Given the description of an element on the screen output the (x, y) to click on. 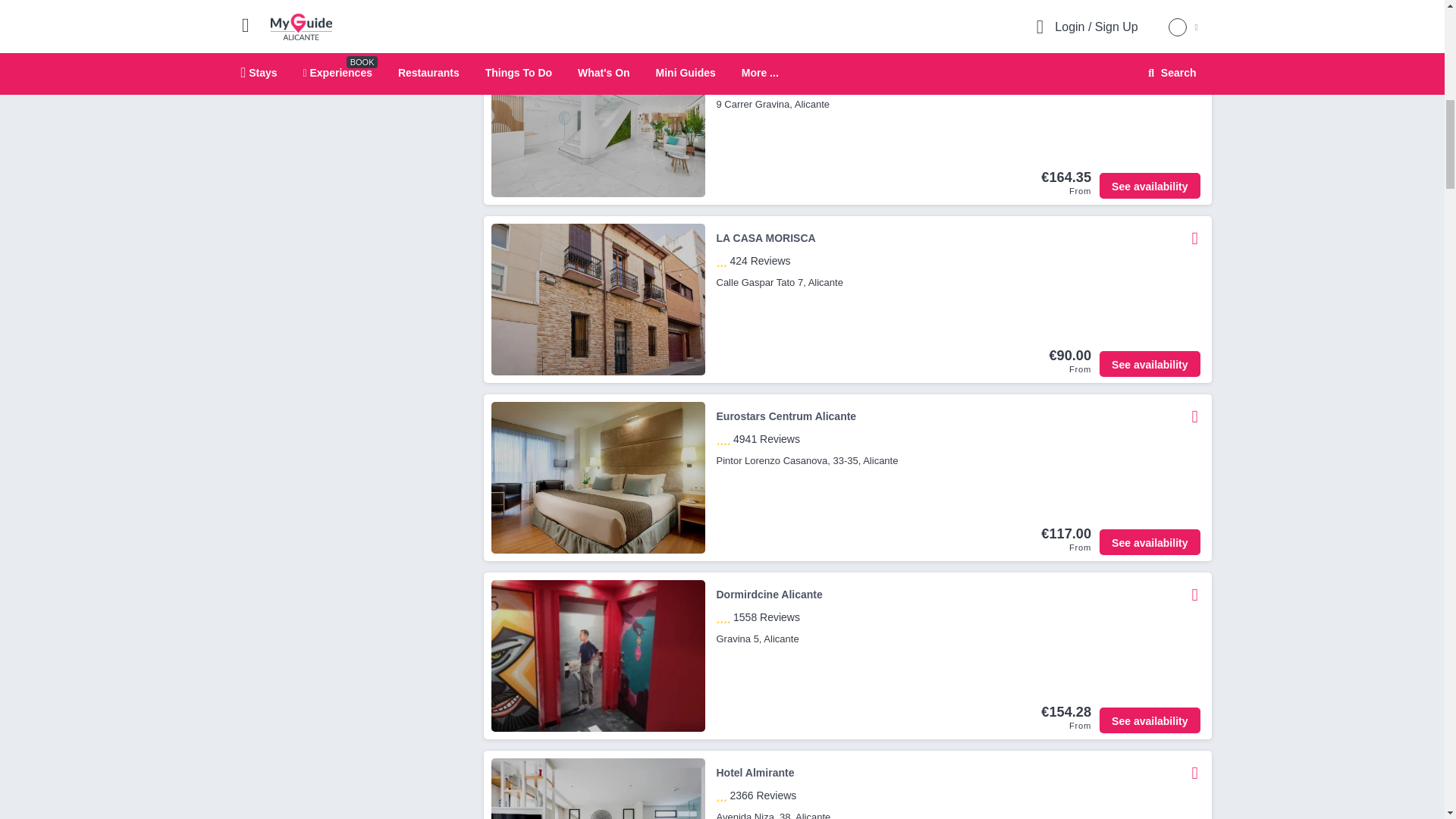
Add to My Guide (1195, 416)
Add to My Guide (1193, 237)
Add to My Guide (1193, 416)
Add to My Guide (1195, 237)
Add to My Guide (1195, 59)
Add to My Guide (1193, 59)
